Given the description of an element on the screen output the (x, y) to click on. 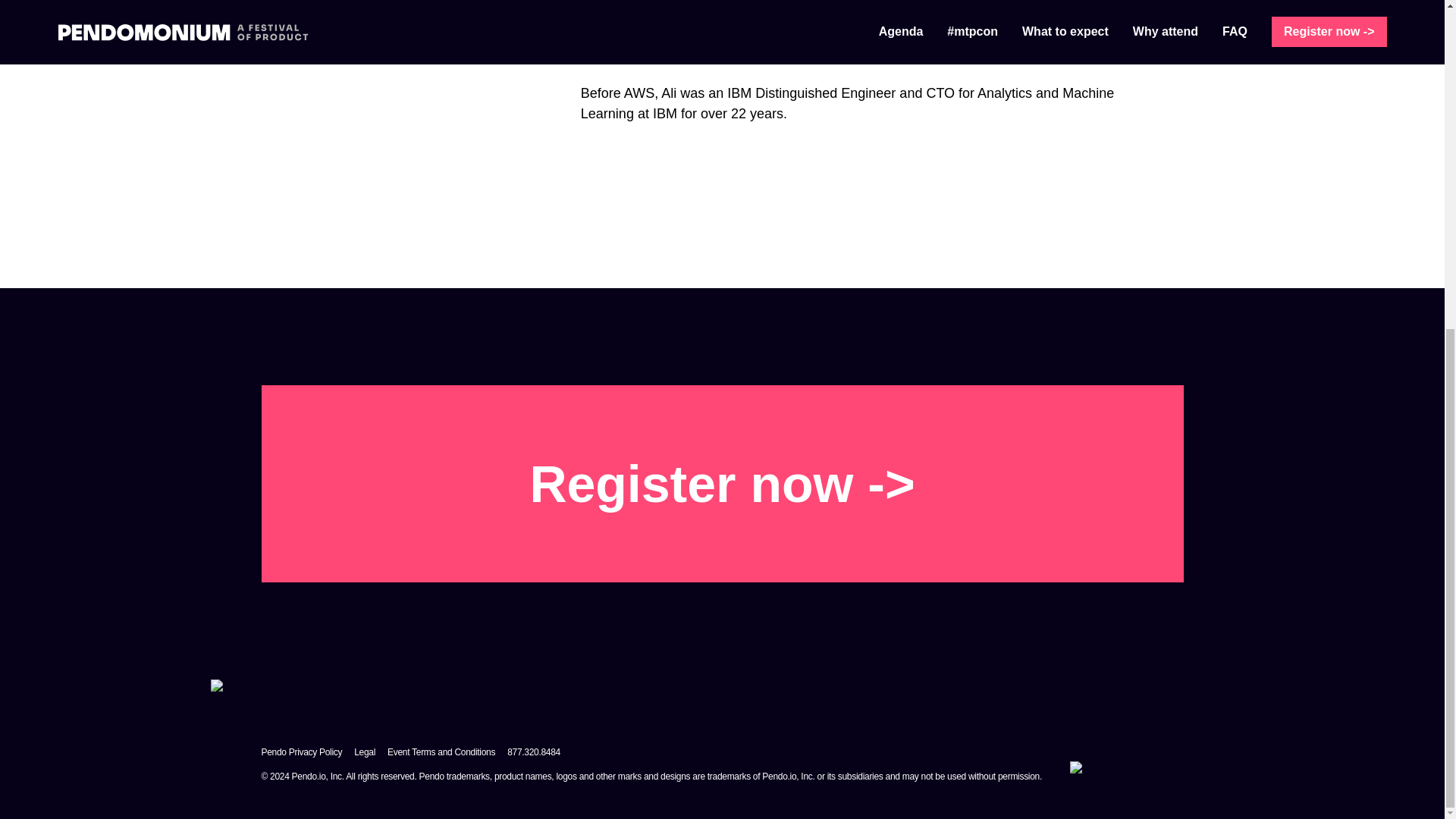
877.320.8484 (533, 752)
Legal (364, 752)
Pendo Privacy Policy (301, 752)
Event Terms and Conditions (441, 752)
